Given the description of an element on the screen output the (x, y) to click on. 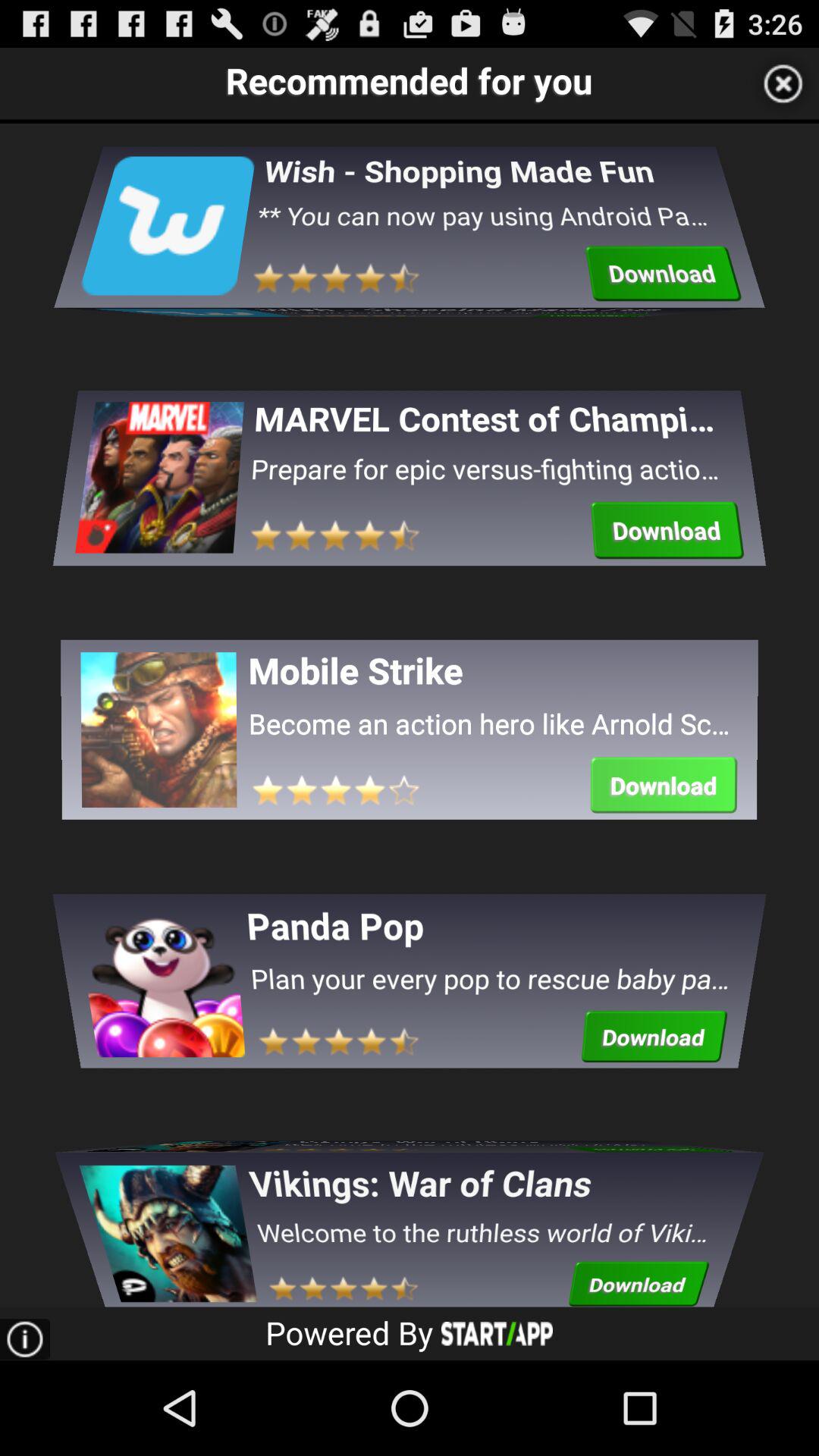
launch icon to the right of recommended for you app (783, 83)
